Given the description of an element on the screen output the (x, y) to click on. 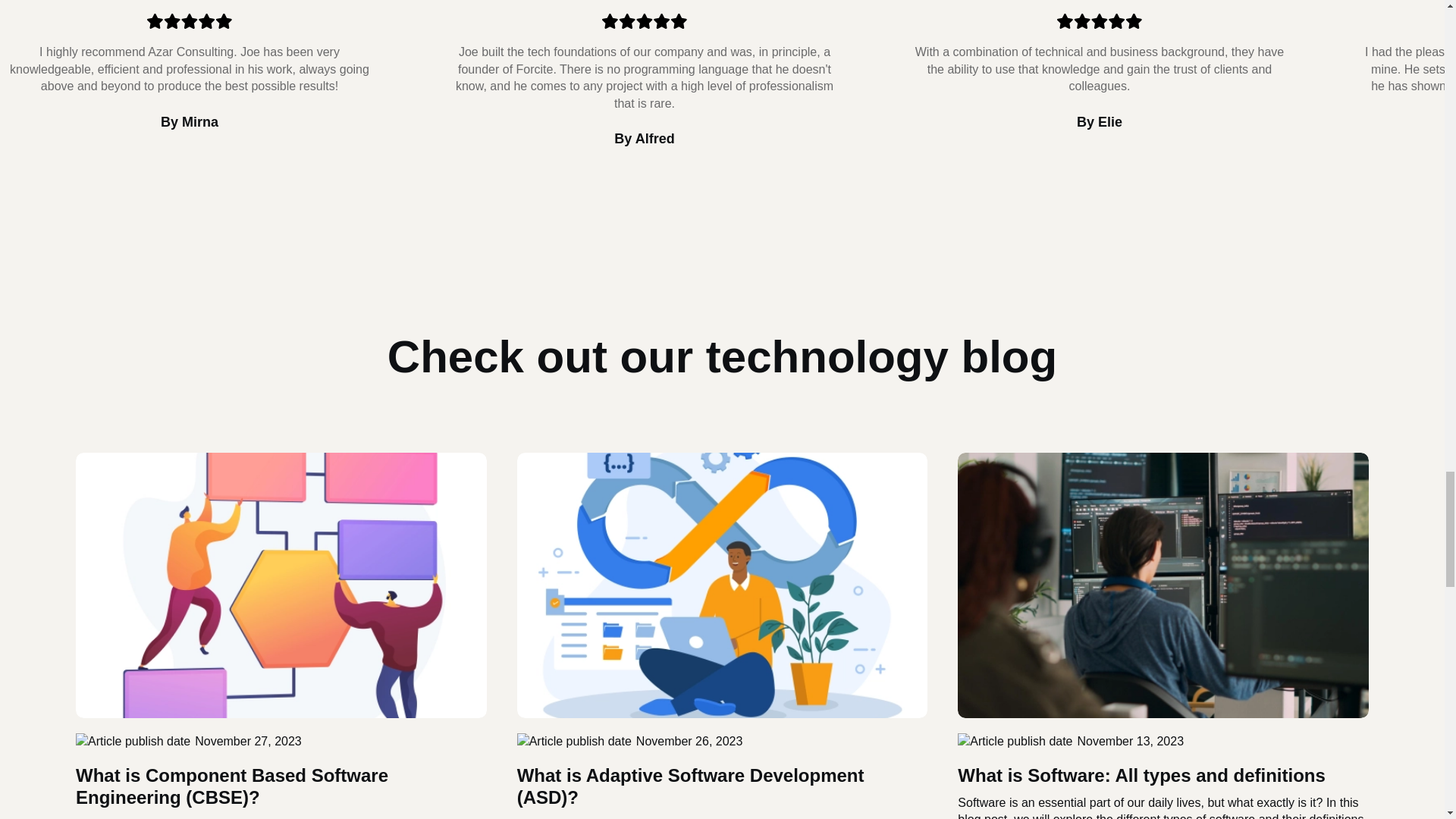
Check out our technology blog (722, 356)
